Given the description of an element on the screen output the (x, y) to click on. 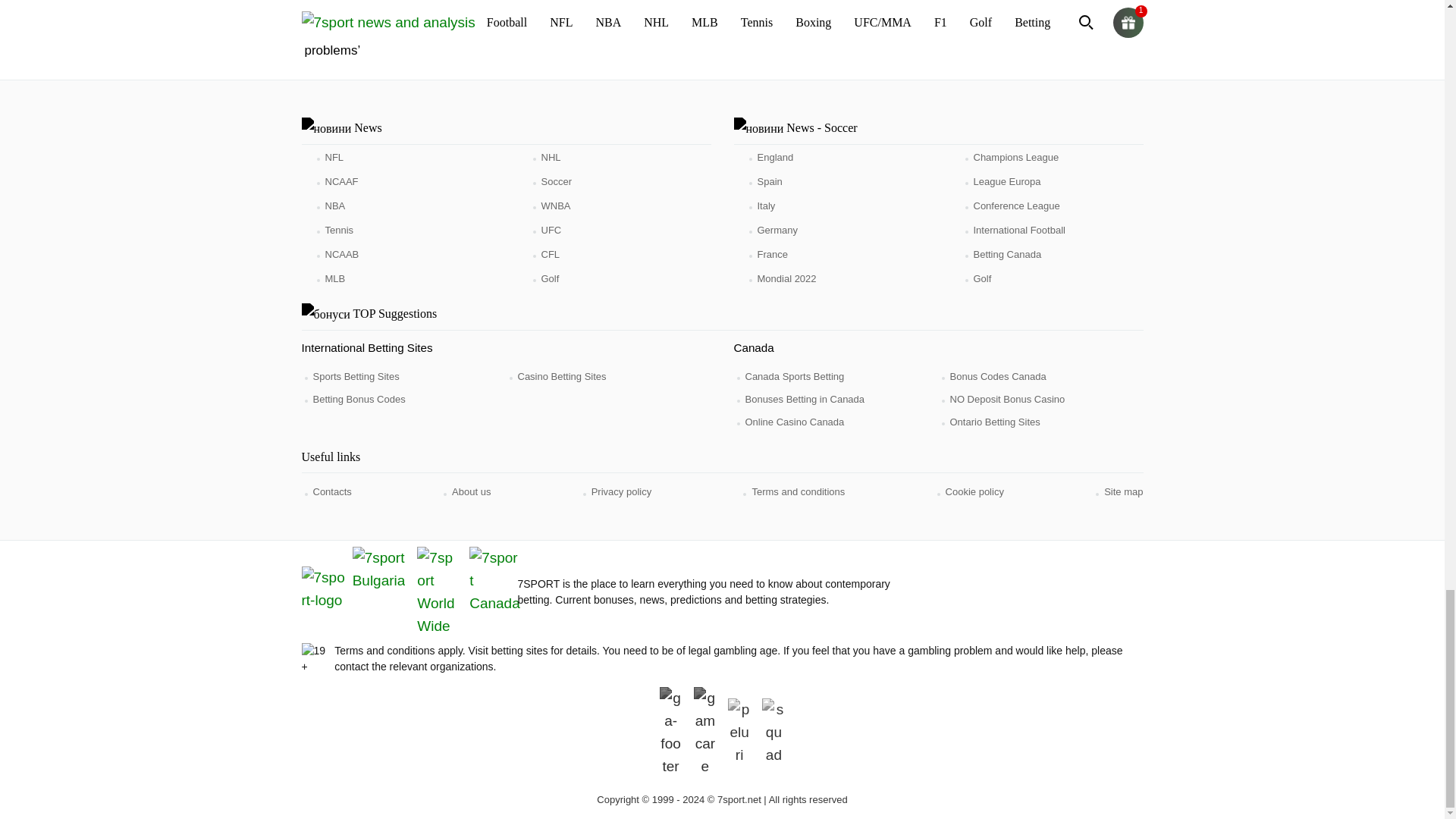
Djokovic flies through US Open first round 15 (756, 4)
Alcaraz kicks off his US Open campaign with a win 14 (595, 4)
